Given the description of an element on the screen output the (x, y) to click on. 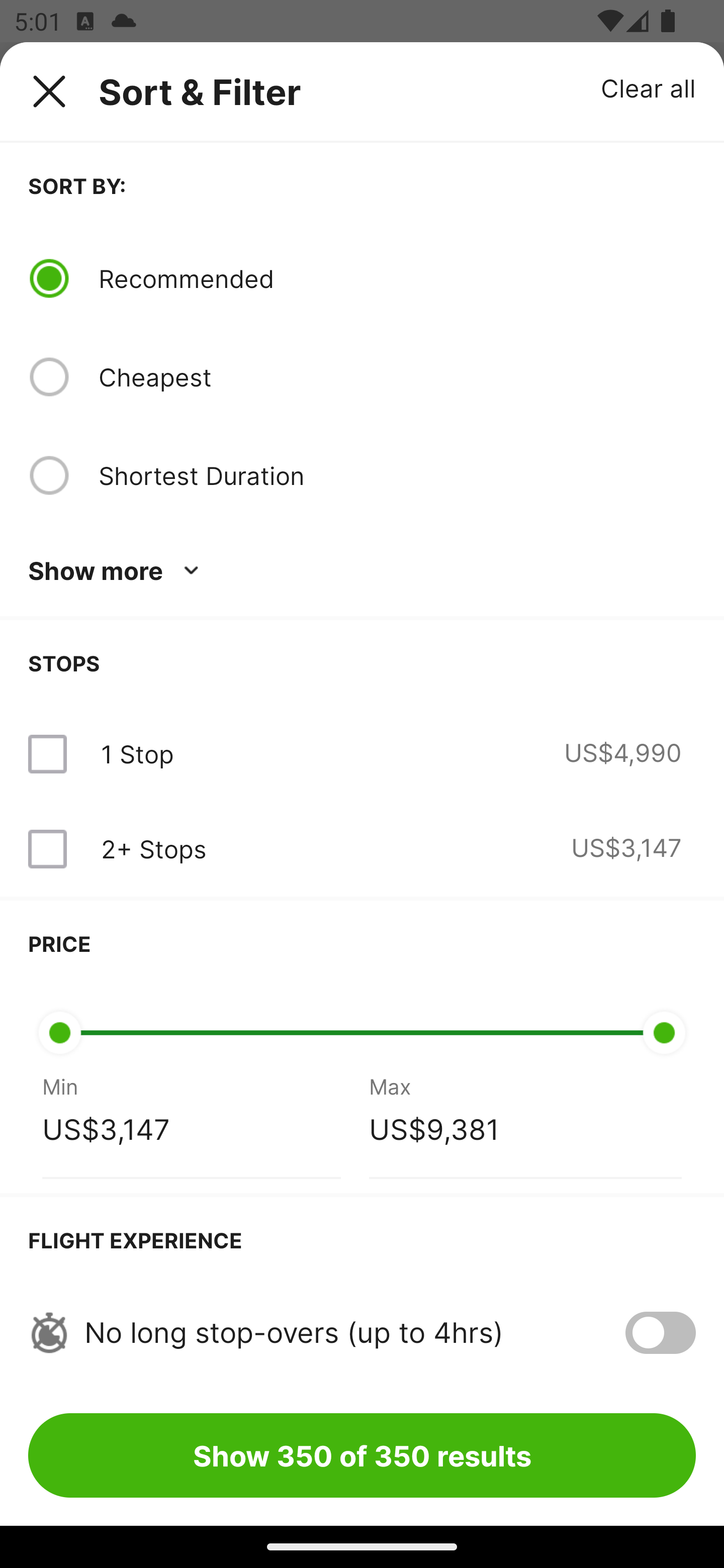
Clear all (648, 87)
Recommended  (396, 278)
Cheapest (396, 377)
Shortest Duration (396, 474)
Show more (116, 570)
1 Stop US$4,990 (362, 754)
1 Stop (136, 753)
2+ Stops US$3,147 (362, 848)
2+ Stops (153, 849)
Show 350 of 350 results (361, 1454)
